Given the description of an element on the screen output the (x, y) to click on. 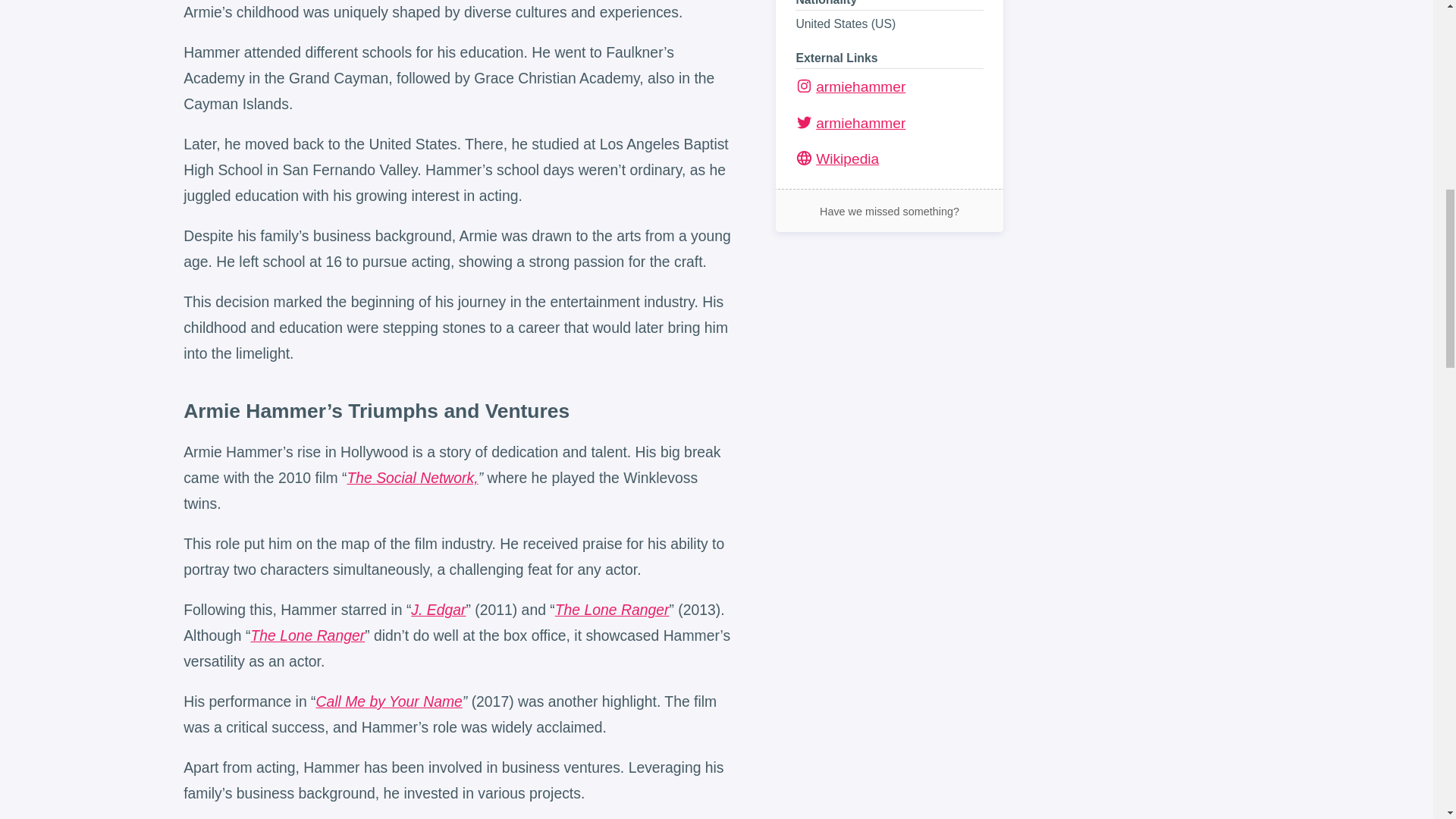
Call Me by Your Name (388, 701)
The Lone Ranger (307, 635)
The Lone Ranger (611, 609)
J. Edgar (437, 609)
Wikipedia (836, 158)
The Social Network, (411, 477)
Have we missed something? (890, 211)
armiehammer (887, 123)
armiehammer (887, 86)
